Given the description of an element on the screen output the (x, y) to click on. 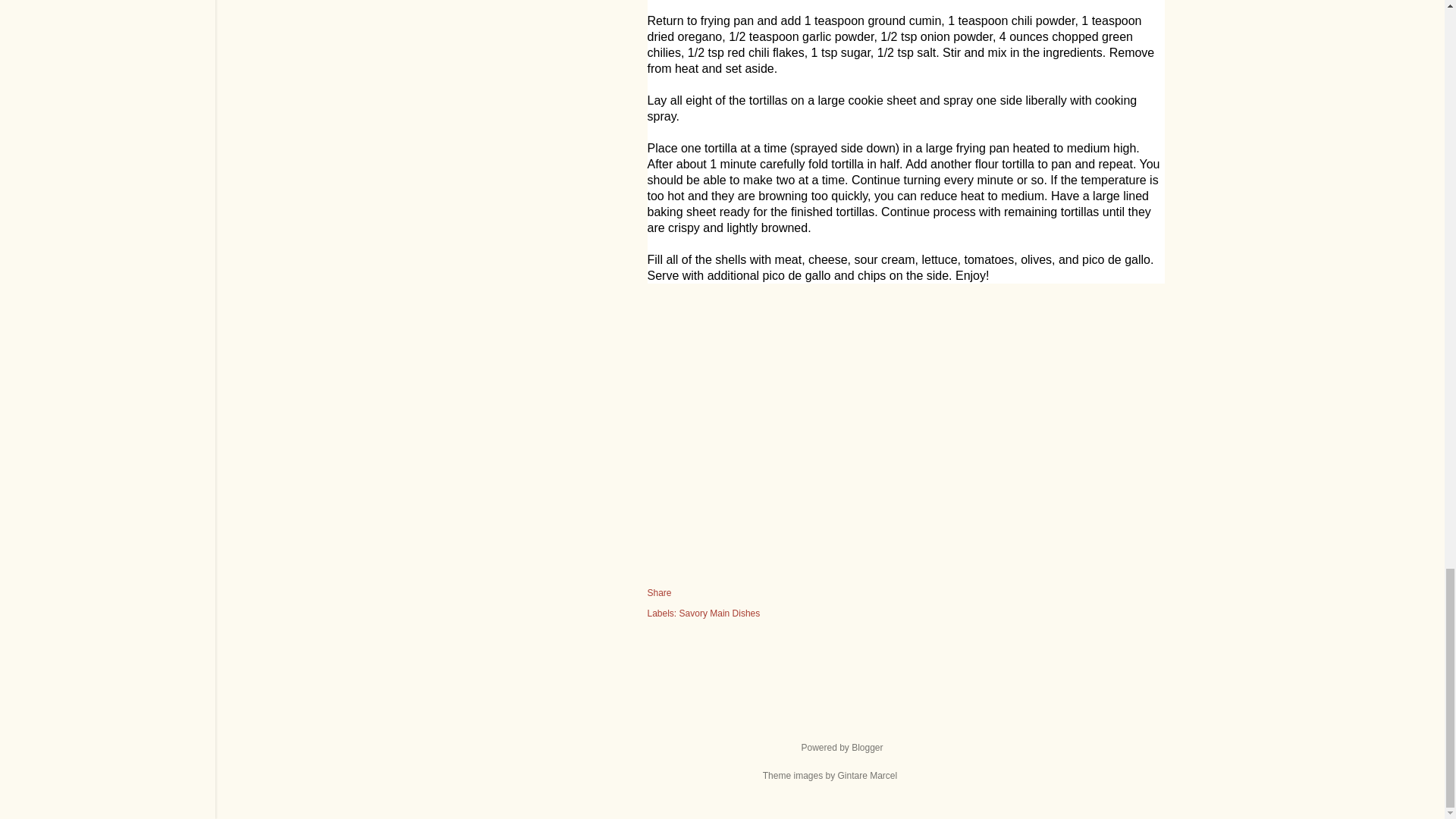
Gintare Marcel (866, 775)
Advertisement (905, 438)
Share (659, 593)
Savory Main Dishes (719, 613)
